Given the description of an element on the screen output the (x, y) to click on. 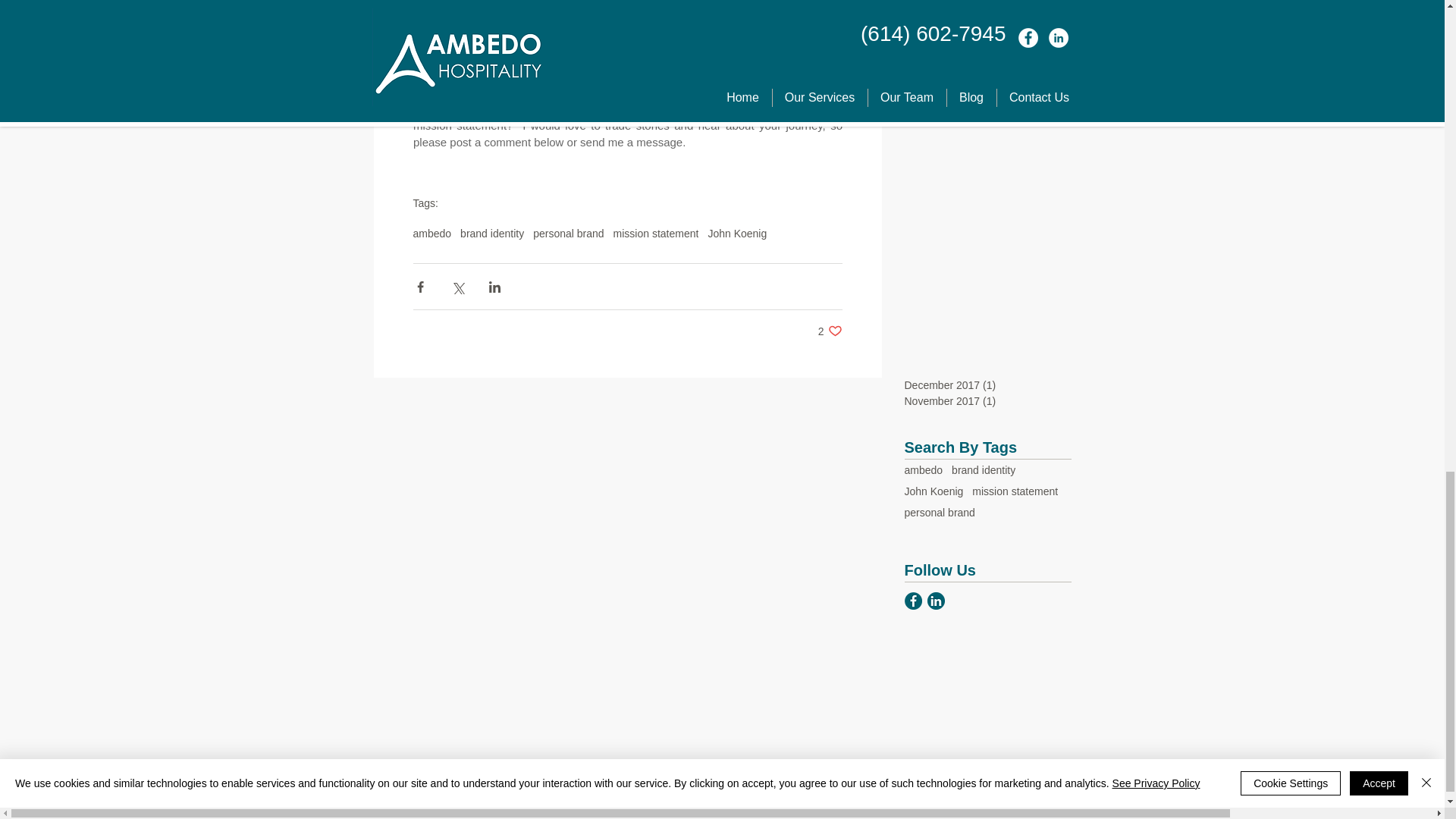
brand identity (492, 233)
ambedo (923, 469)
mission statement (655, 233)
personal brand (568, 233)
personal brand (939, 512)
brand identity (983, 469)
John Koenig (933, 491)
mission statement (1015, 491)
John Koenig (737, 233)
